Given the description of an element on the screen output the (x, y) to click on. 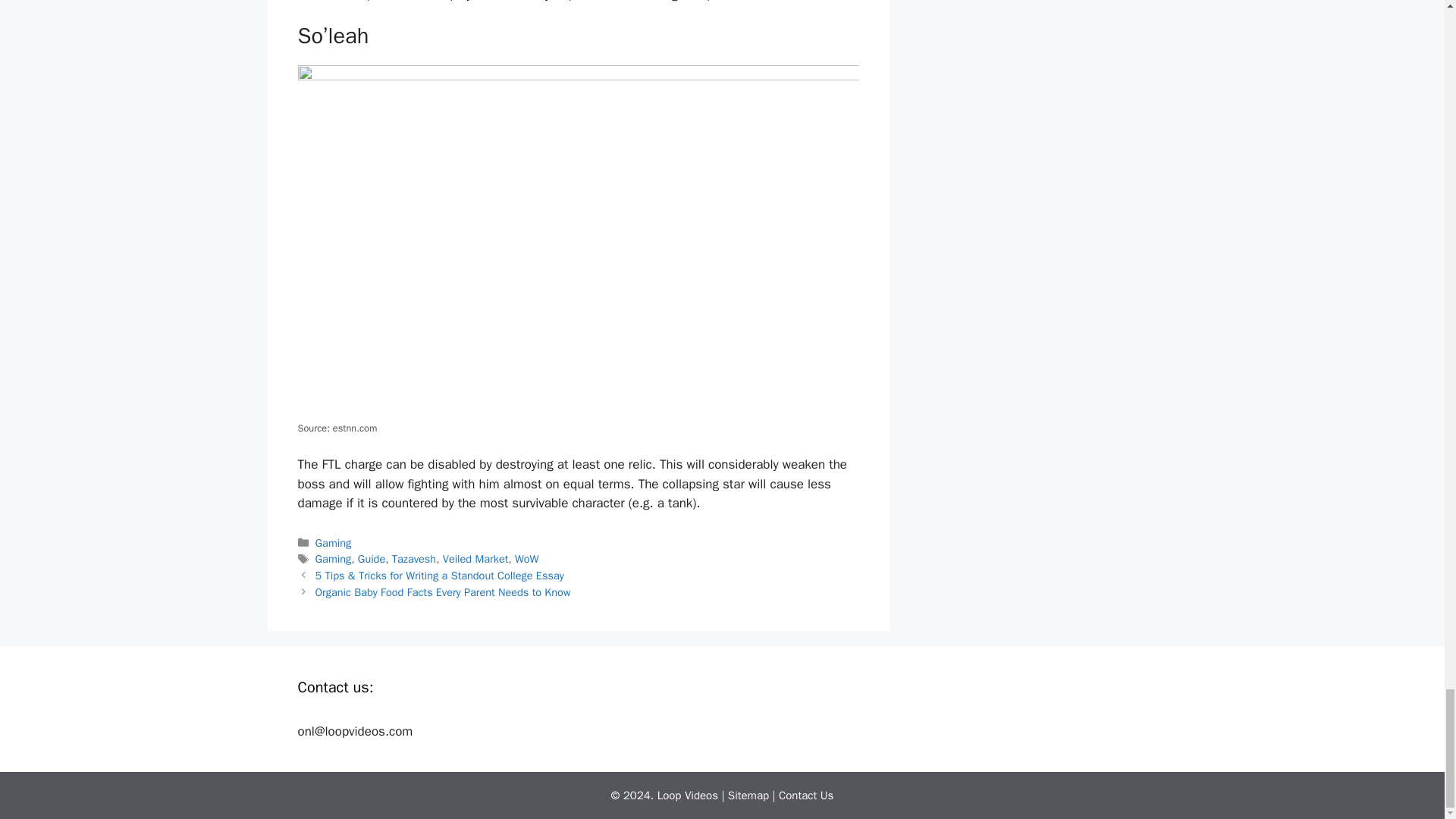
Veiled Market (475, 558)
Gaming (333, 542)
Gaming (333, 558)
Guide (371, 558)
Tazavesh (413, 558)
Organic Baby Food Facts Every Parent Needs to Know (442, 591)
WoW (526, 558)
